Given the description of an element on the screen output the (x, y) to click on. 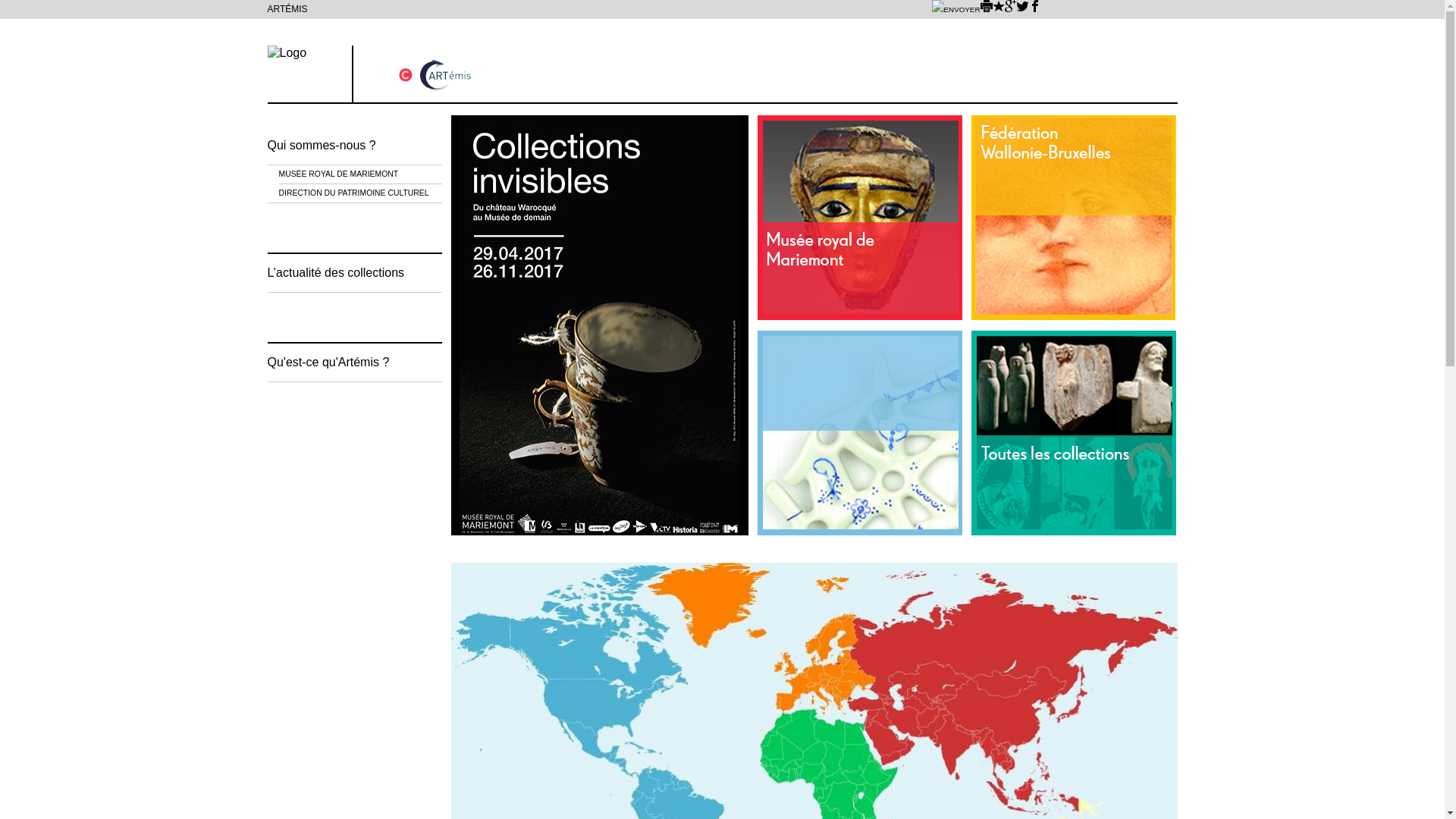
Qui sommes-nous ? Element type: text (353, 145)
Envoyer sur facebook Element type: hover (1034, 9)
Ajouter aux favoris Element type: hover (997, 9)
Envoyer sur google plus Element type: hover (1010, 9)
Imprimer Element type: hover (985, 9)
Envoyer sur twitter Element type: hover (1022, 9)
DIRECTION DU PATRIMOINE CULTUREL Element type: text (360, 193)
